Given the description of an element on the screen output the (x, y) to click on. 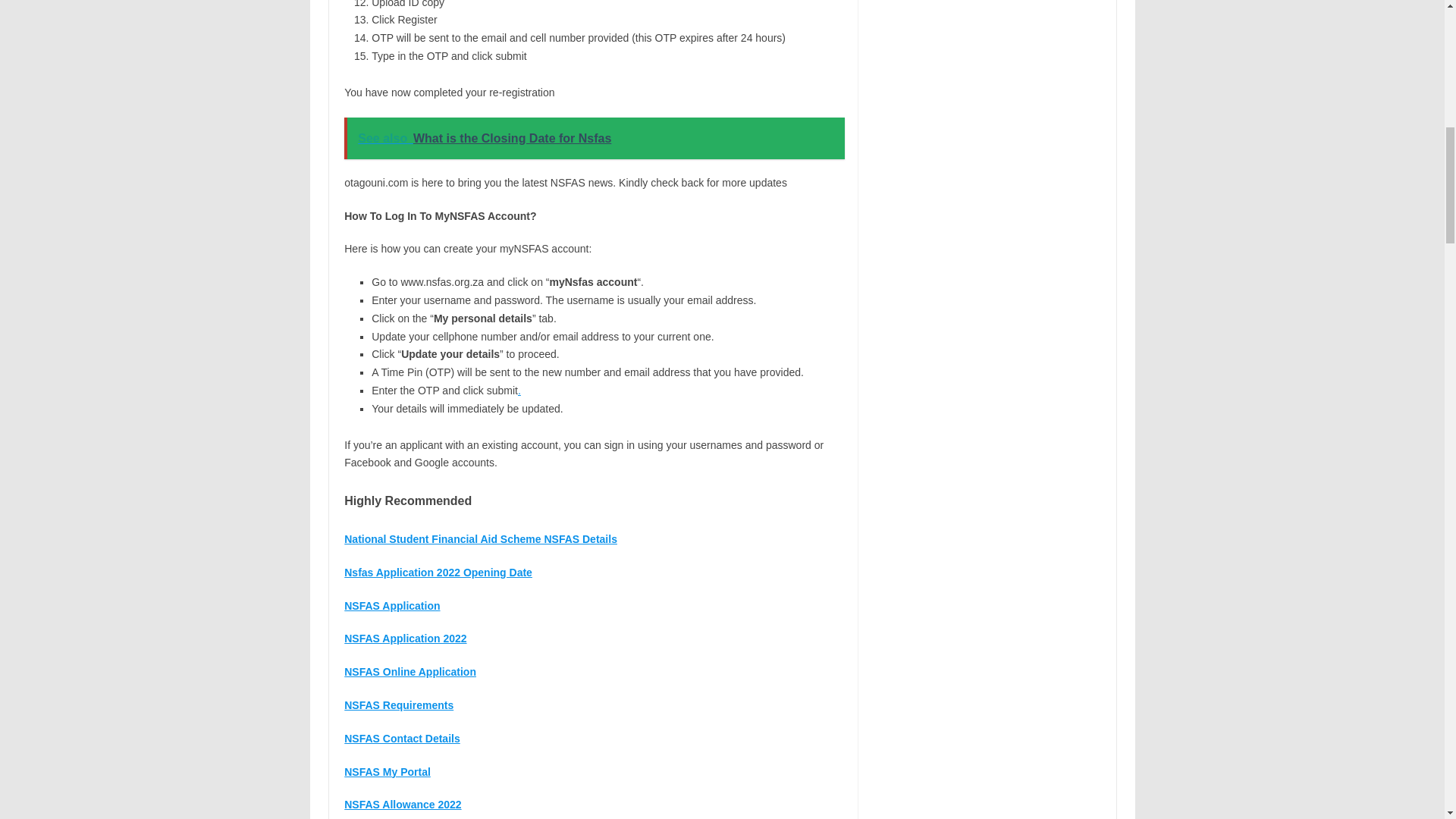
NSFAS Requirements (397, 705)
See also  What is the Closing Date for Nsfas (593, 137)
NSFAS Contact Details (401, 738)
Nsfas Application 2022 Opening Date (437, 572)
NSFAS Allowance 2022 (402, 804)
NSFAS Application (391, 605)
NSFAS Application 2022 (404, 638)
National Student Financial Aid Scheme NSFAS Details (480, 539)
NSFAS My Portal (386, 771)
NSFAS Online Application (409, 671)
